Given the description of an element on the screen output the (x, y) to click on. 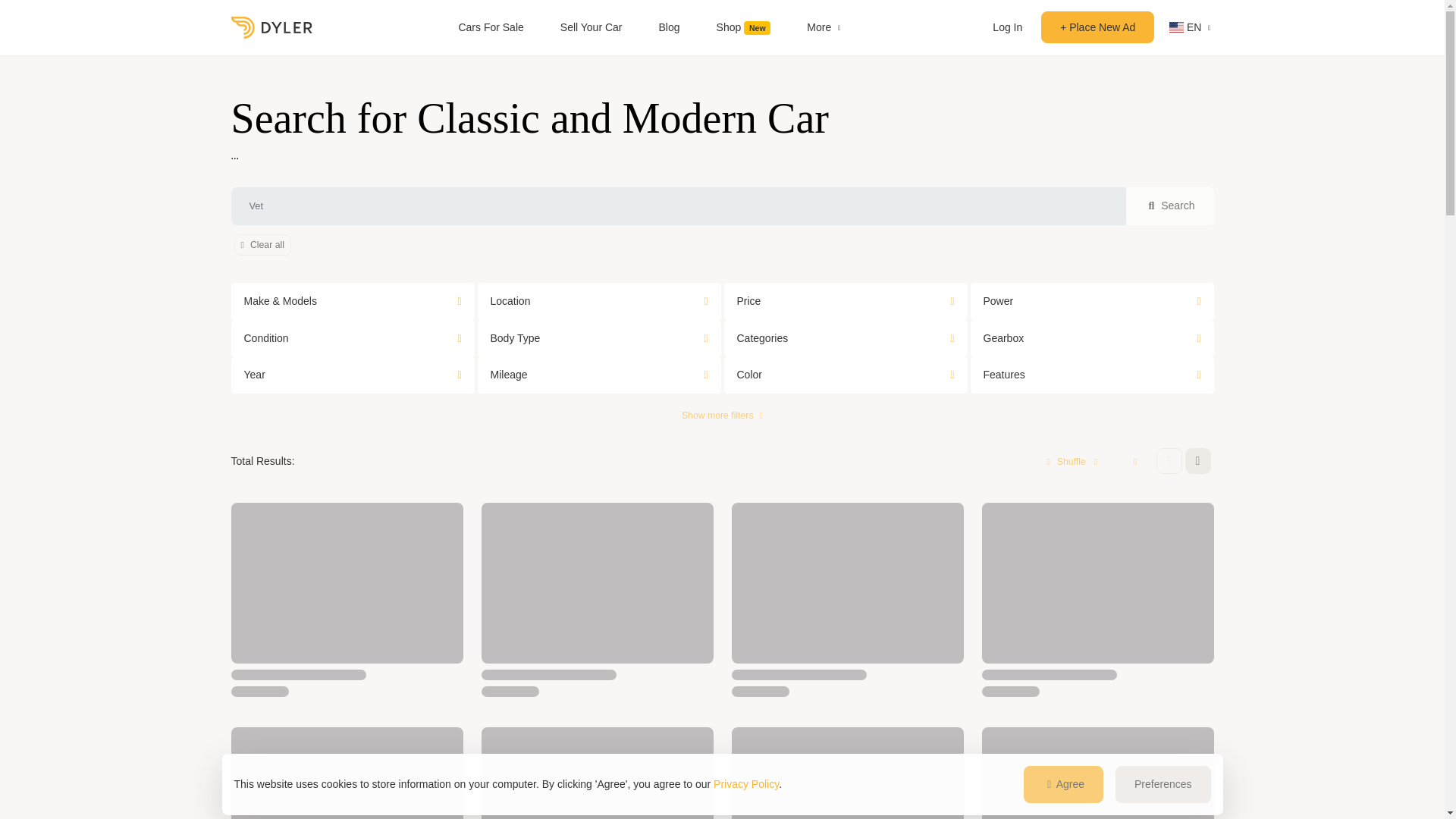
Year (352, 375)
Gearbox (1092, 338)
Cars For Sale (490, 27)
Shop New (743, 27)
EN (1183, 27)
Log In (1007, 27)
Search (1169, 206)
Clear all (260, 244)
Categories (844, 338)
More (822, 27)
Sell Your Car (591, 27)
Location (598, 301)
Condition (352, 338)
Color (844, 375)
